Given the description of an element on the screen output the (x, y) to click on. 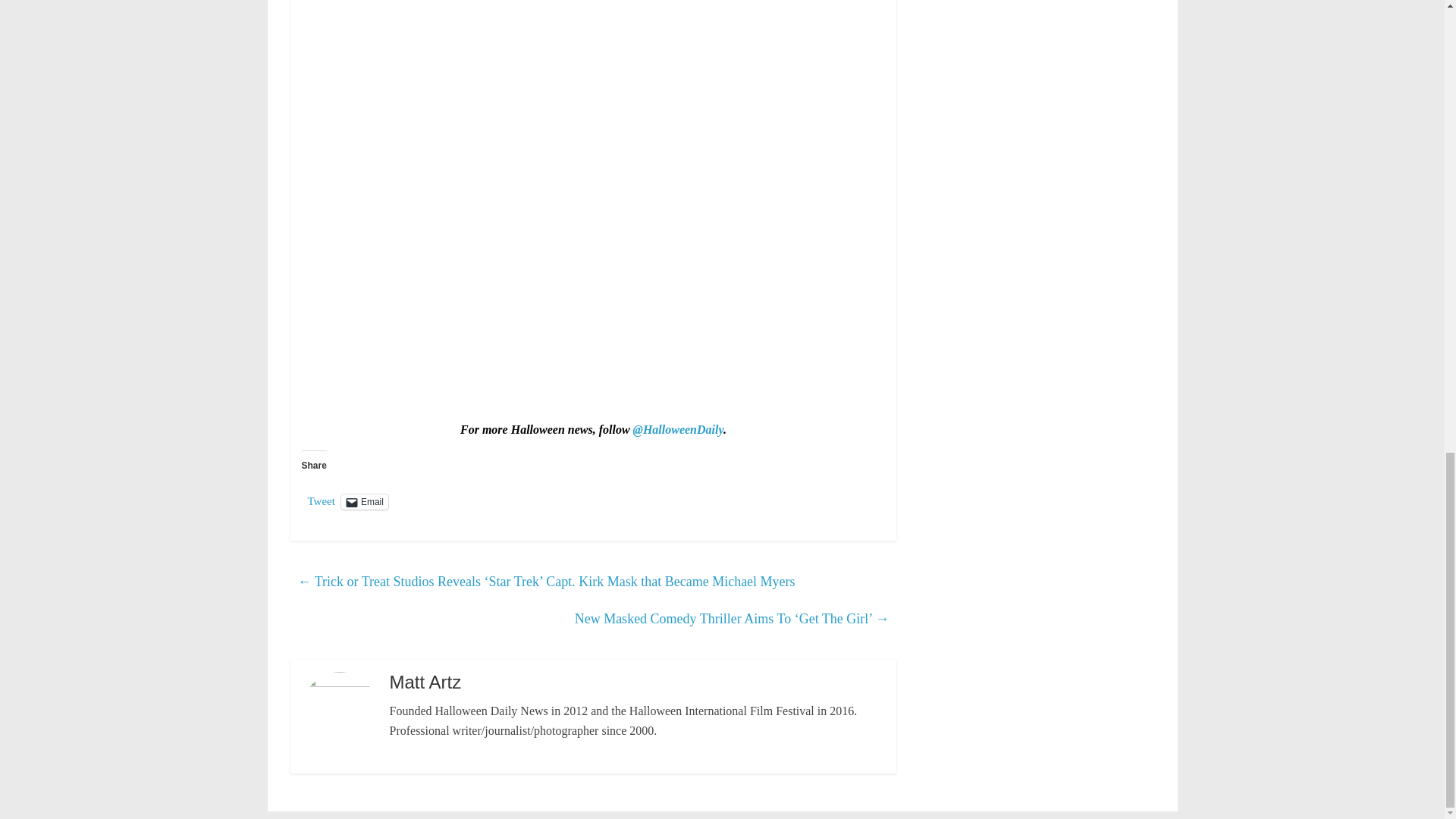
Click to email a link to a friend (364, 501)
Email (364, 501)
Tweet (320, 500)
